Given the description of an element on the screen output the (x, y) to click on. 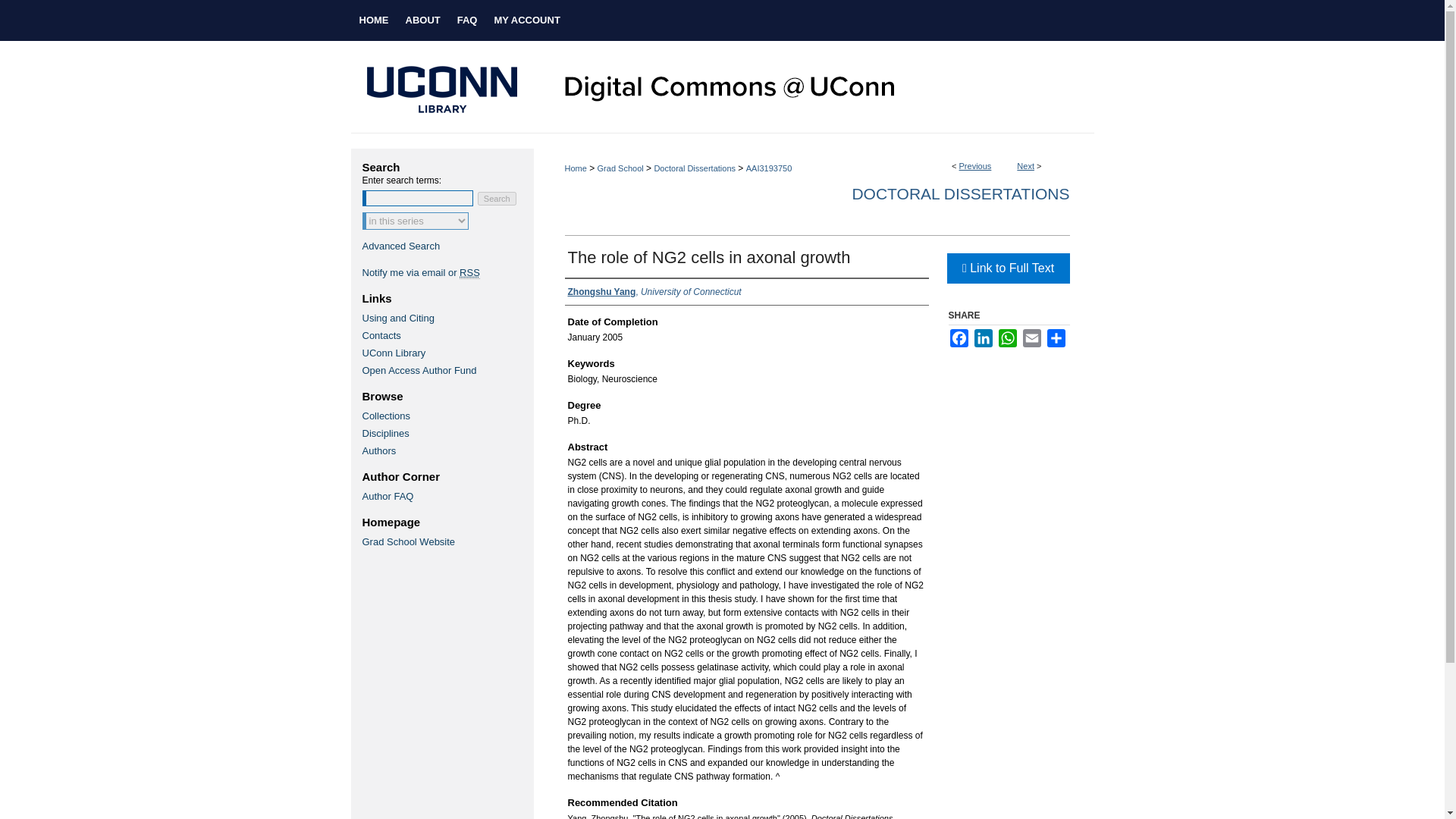
UConn Library (447, 352)
Search (496, 198)
Home (373, 20)
Search (496, 198)
Email or RSS Notifications (447, 272)
AAI3193750 (768, 167)
HOME (373, 20)
Open Access Author Fund (447, 369)
WhatsApp (1006, 338)
Link to Full Text (1007, 268)
Link opens in new window (1007, 268)
Disciplines (447, 432)
FAQ (467, 20)
Search (496, 198)
Author FAQ (447, 496)
